Given the description of an element on the screen output the (x, y) to click on. 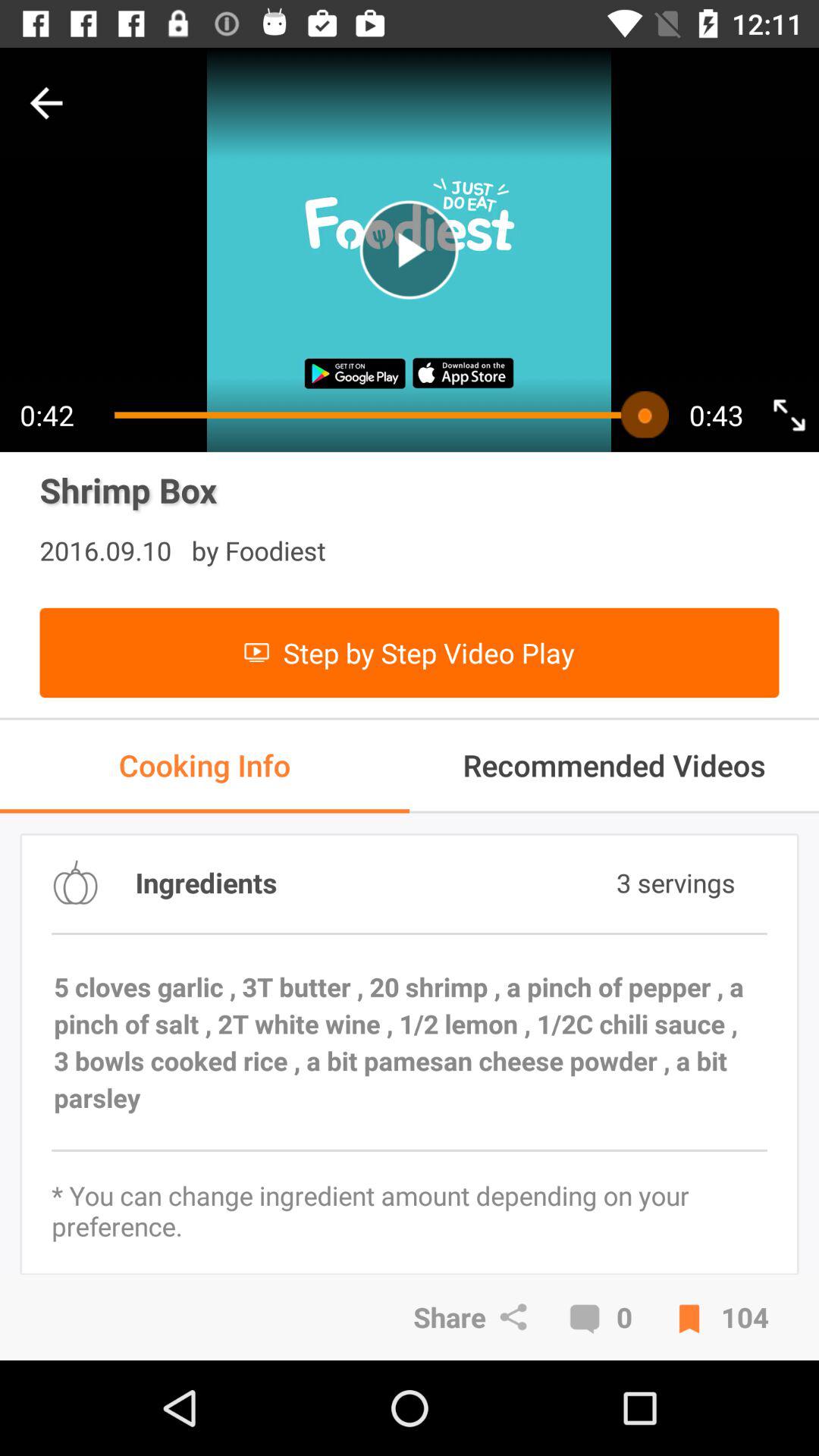
advertisement page (408, 249)
